Given the description of an element on the screen output the (x, y) to click on. 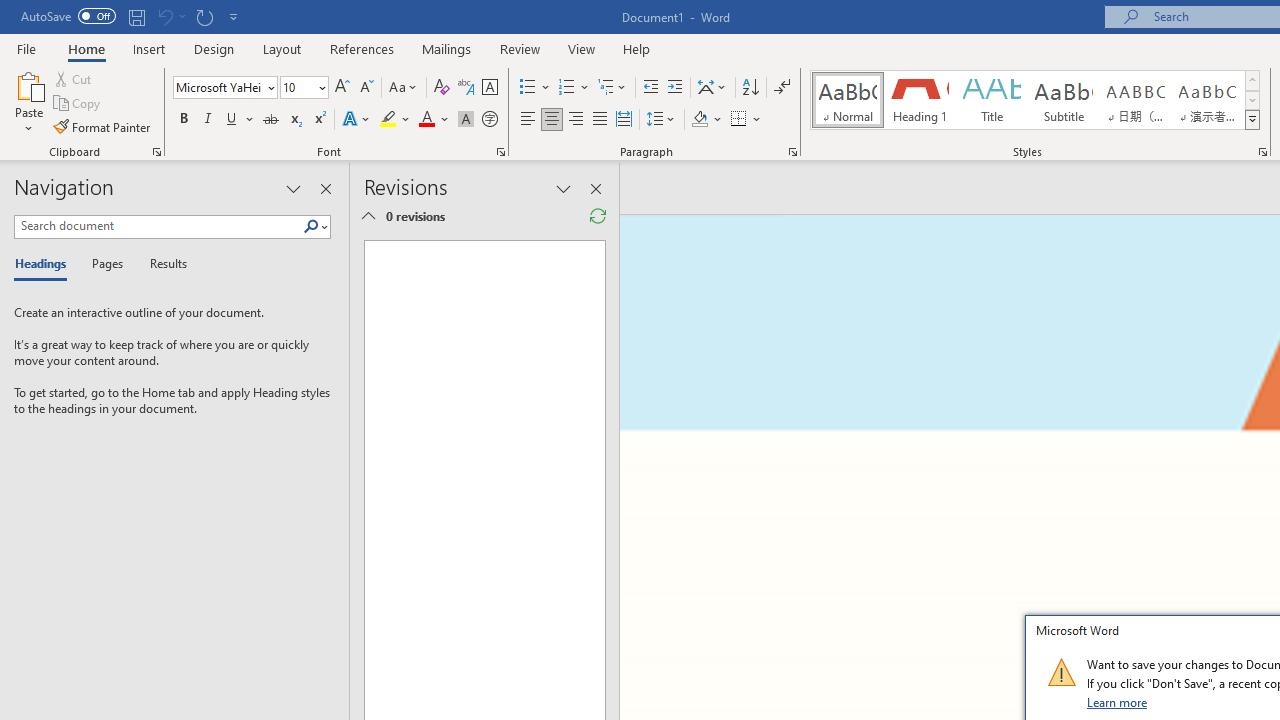
Learn more (1118, 702)
Can't Undo (164, 15)
